Given the description of an element on the screen output the (x, y) to click on. 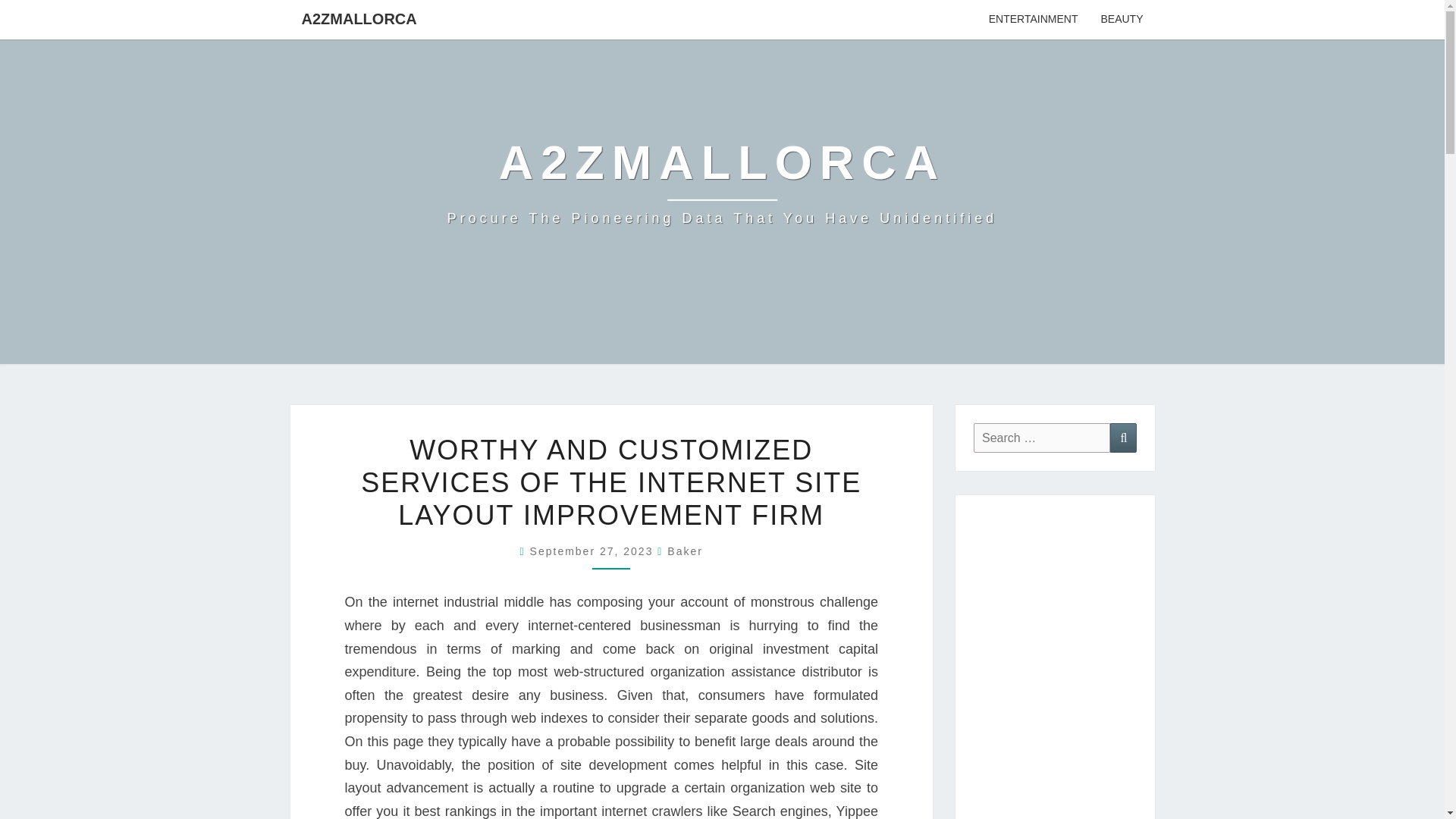
Search (1123, 437)
A2zmallorca (721, 182)
View all posts by Baker (684, 551)
10:18 am (593, 551)
Search for: (1041, 437)
Baker (684, 551)
BEAUTY (1121, 19)
ENTERTAINMENT (1032, 19)
September 27, 2023 (593, 551)
